Given the description of an element on the screen output the (x, y) to click on. 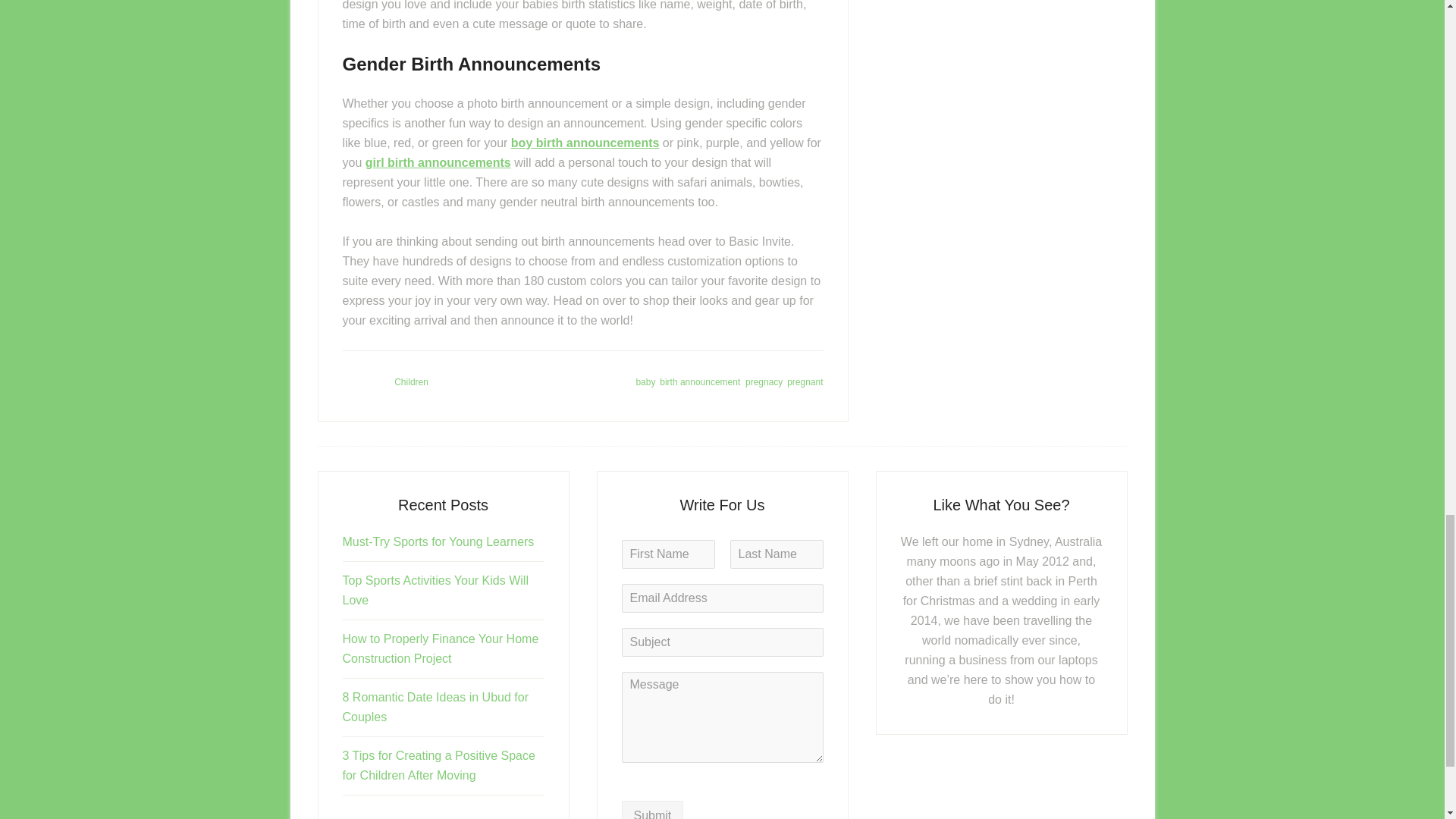
How to Properly Finance Your Home Construction Project (440, 648)
Children (411, 381)
pregnacy (763, 381)
boy birth announcements (585, 142)
8 Romantic Date Ideas in Ubud for Couples (435, 707)
Top Sports Activities Your Kids Will Love (435, 590)
Must-Try Sports for Young Learners (438, 541)
pregnant (804, 381)
Submit (652, 809)
girl birth announcements (438, 162)
baby (643, 381)
birth announcement (699, 381)
